Given the description of an element on the screen output the (x, y) to click on. 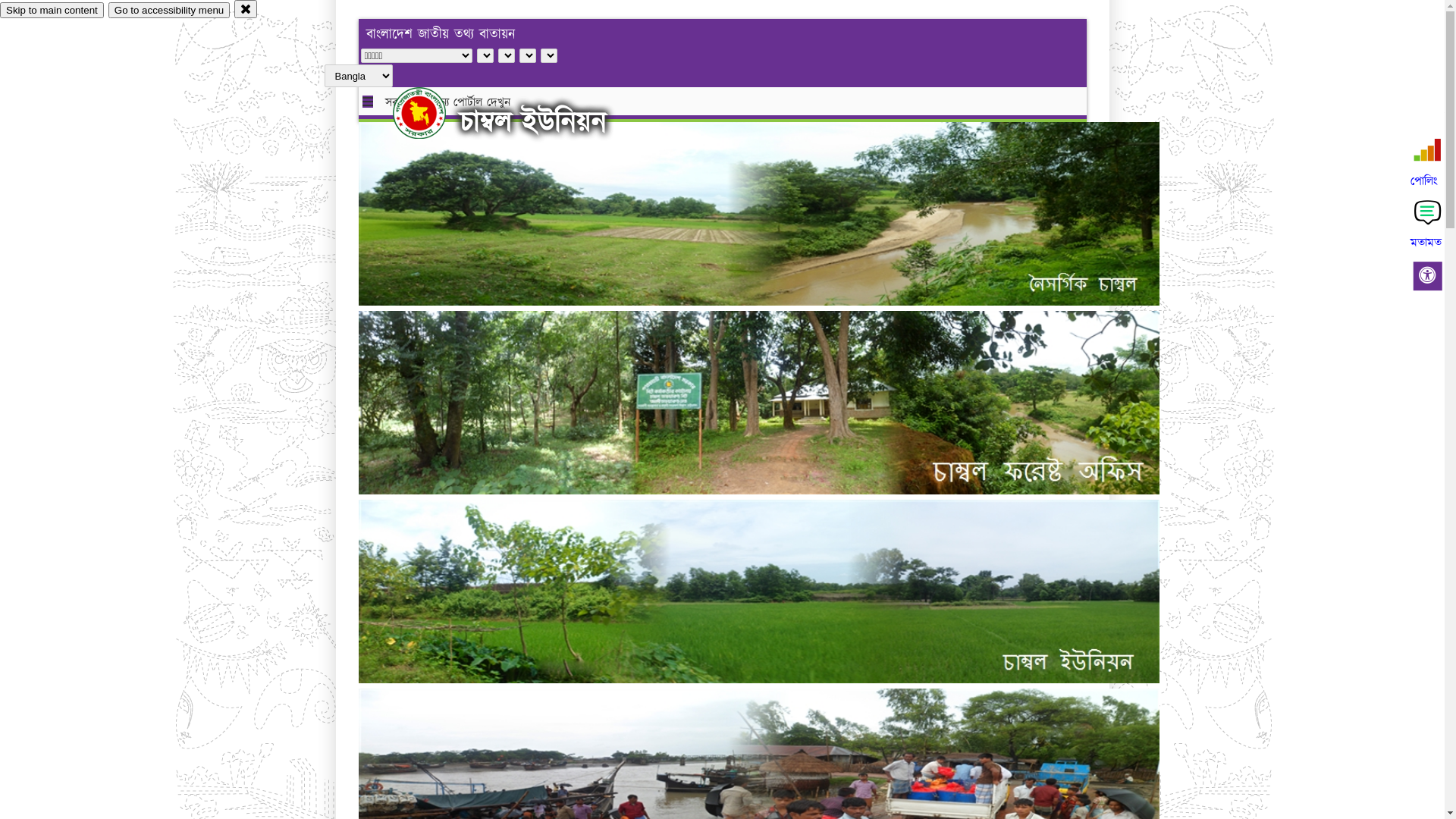
close Element type: hover (245, 9)
Skip to main content Element type: text (51, 10)

                
             Element type: hover (431, 112)
Go to accessibility menu Element type: text (168, 10)
